Given the description of an element on the screen output the (x, y) to click on. 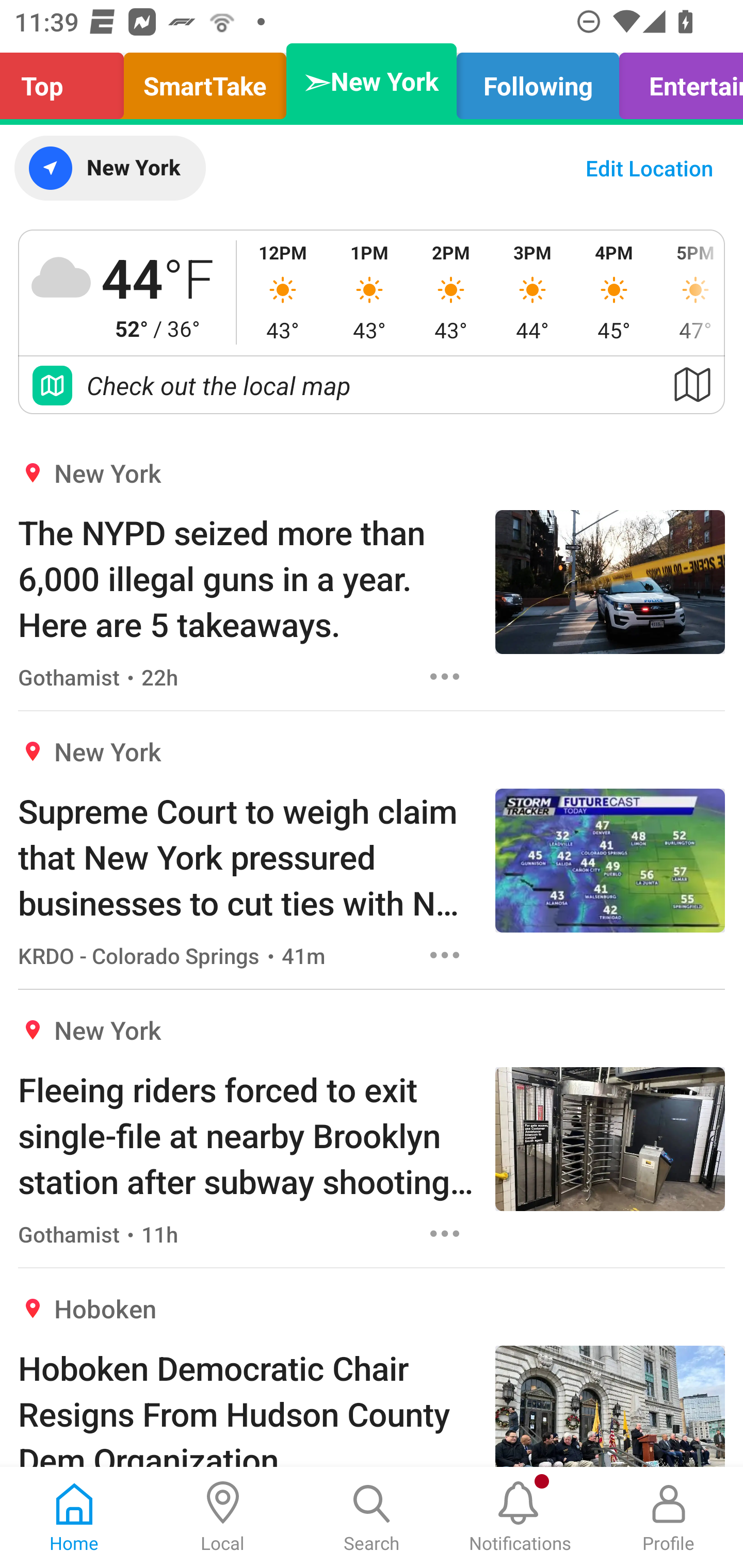
Top (67, 81)
SmartTake (204, 81)
➣New York (371, 81)
Following (537, 81)
New York (109, 168)
Edit Location (648, 168)
12PM 43° (282, 291)
1PM 43° (369, 291)
2PM 43° (450, 291)
3PM 44° (532, 291)
4PM 45° (613, 291)
5PM 47° (689, 291)
Check out the local map (371, 384)
Options (444, 676)
Options (444, 954)
Options (444, 1233)
Local (222, 1517)
Search (371, 1517)
Notifications, New notification Notifications (519, 1517)
Profile (668, 1517)
